Given the description of an element on the screen output the (x, y) to click on. 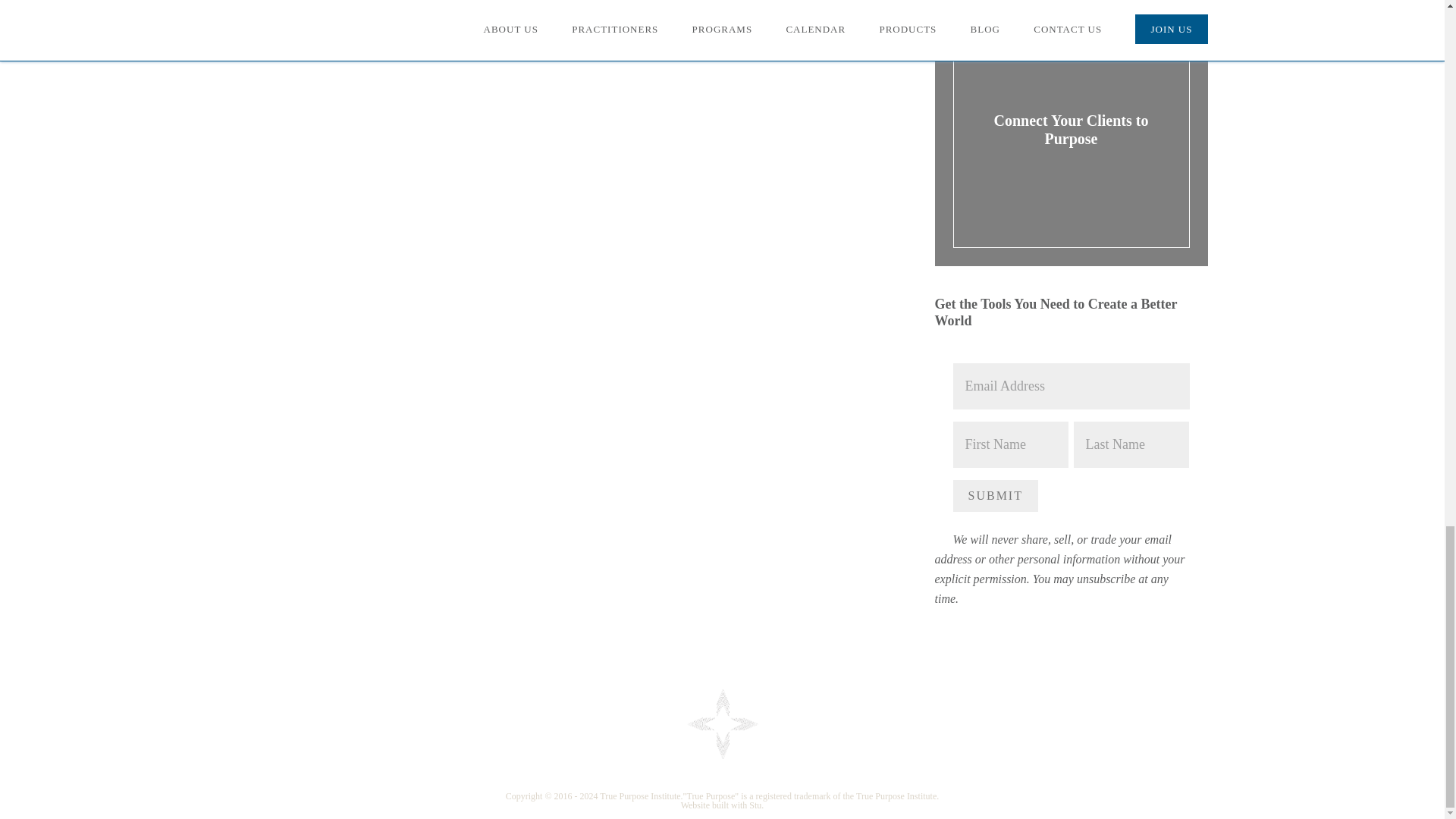
SUBMIT (994, 495)
with Stu (745, 805)
Connect Your Clients to Purpose (1071, 129)
